Given the description of an element on the screen output the (x, y) to click on. 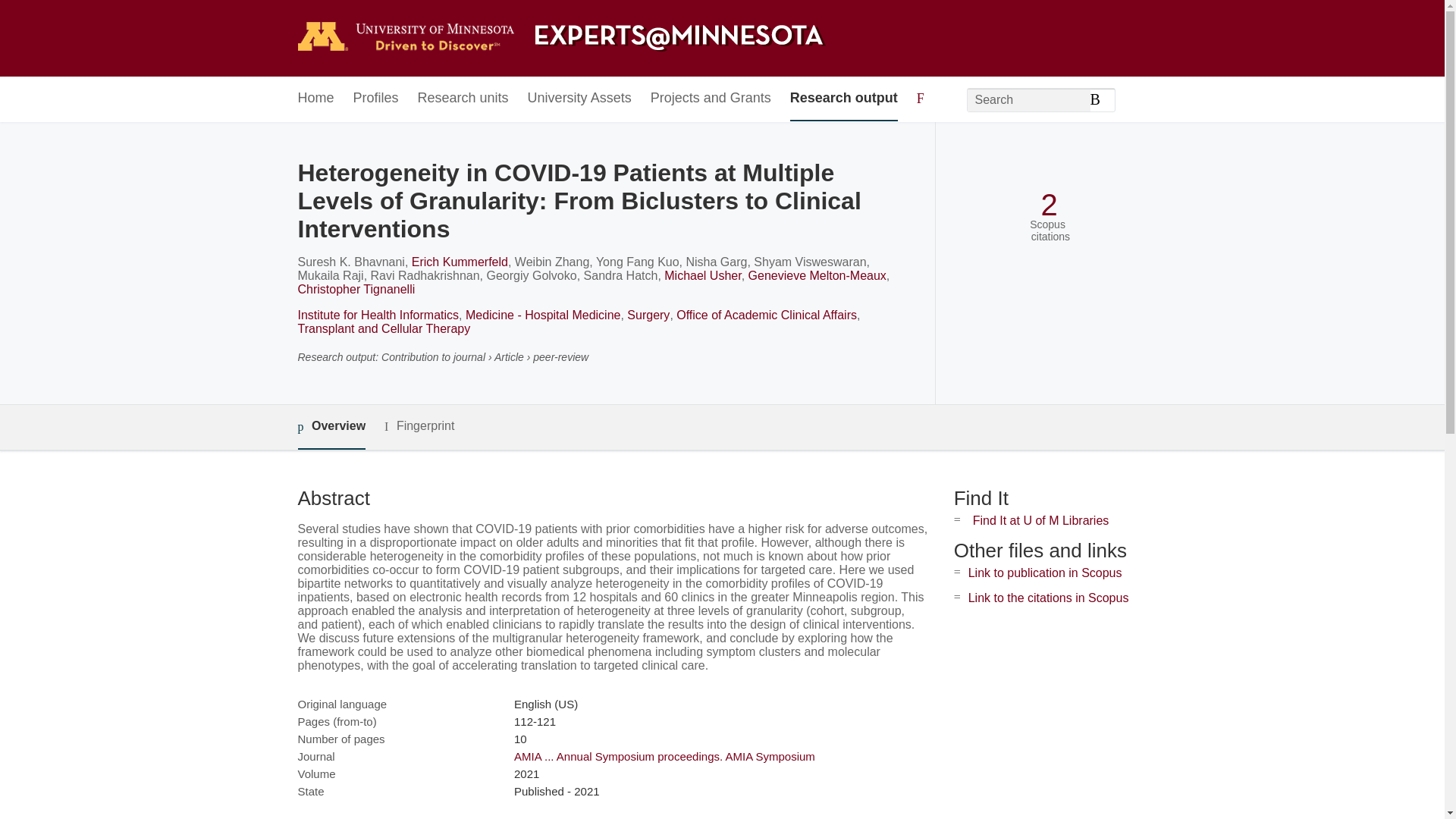
Institute for Health Informatics (377, 314)
Medicine - Hospital Medicine (543, 314)
Projects and Grants (710, 98)
Overview (331, 426)
Erich Kummerfeld (460, 261)
Transplant and Cellular Therapy (383, 328)
Find It at U of M Libraries (1040, 520)
Office of Academic Clinical Affairs (767, 314)
Michael Usher (702, 275)
AMIA ... Annual Symposium proceedings. AMIA Symposium (664, 756)
